Given the description of an element on the screen output the (x, y) to click on. 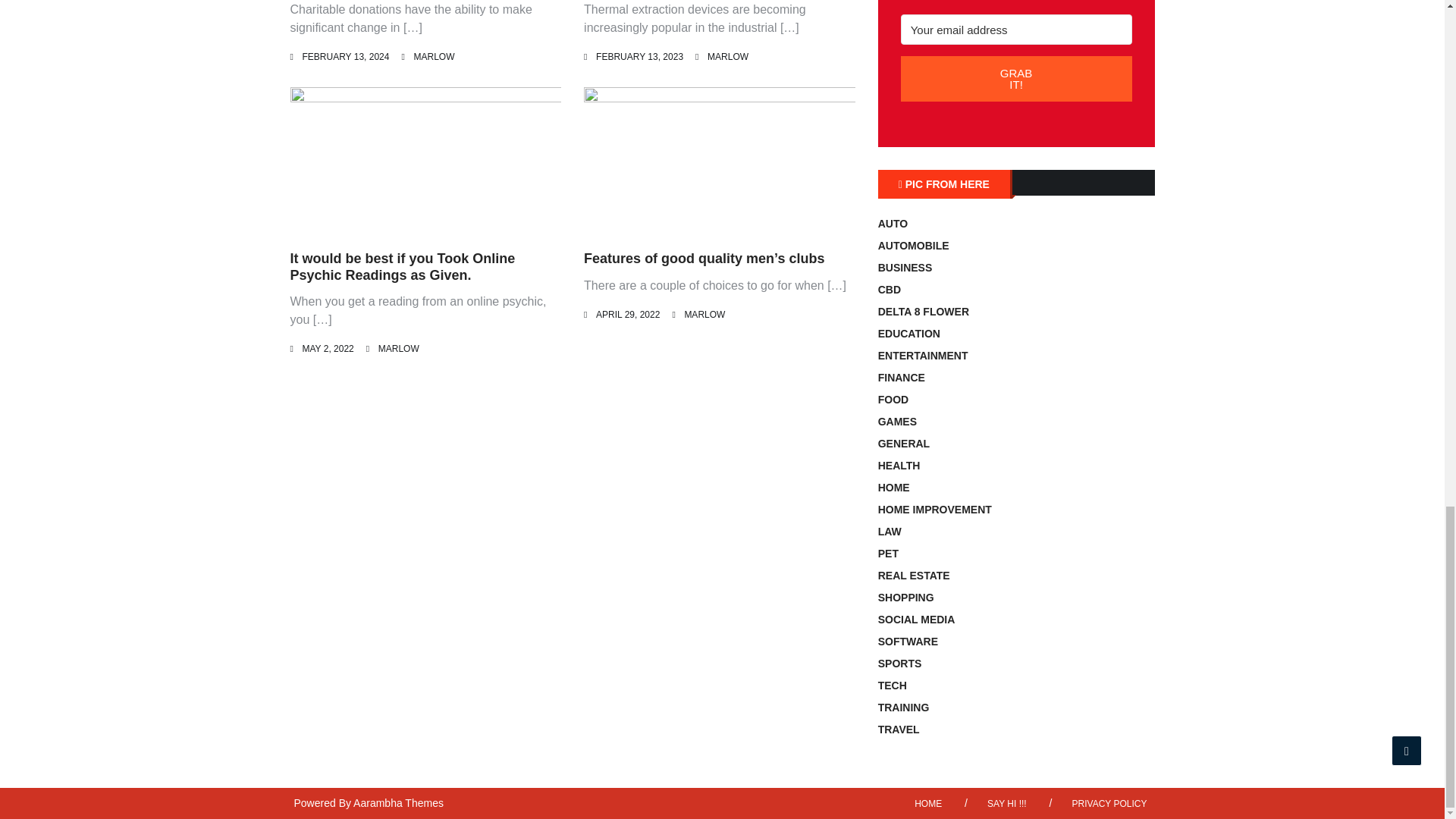
MARLOW (398, 348)
MAY 2, 2022 (327, 348)
FEBRUARY 13, 2023 (638, 56)
MARLOW (704, 314)
MARLOW (433, 56)
APRIL 29, 2022 (627, 314)
FEBRUARY 13, 2024 (344, 56)
MARLOW (727, 56)
